Given the description of an element on the screen output the (x, y) to click on. 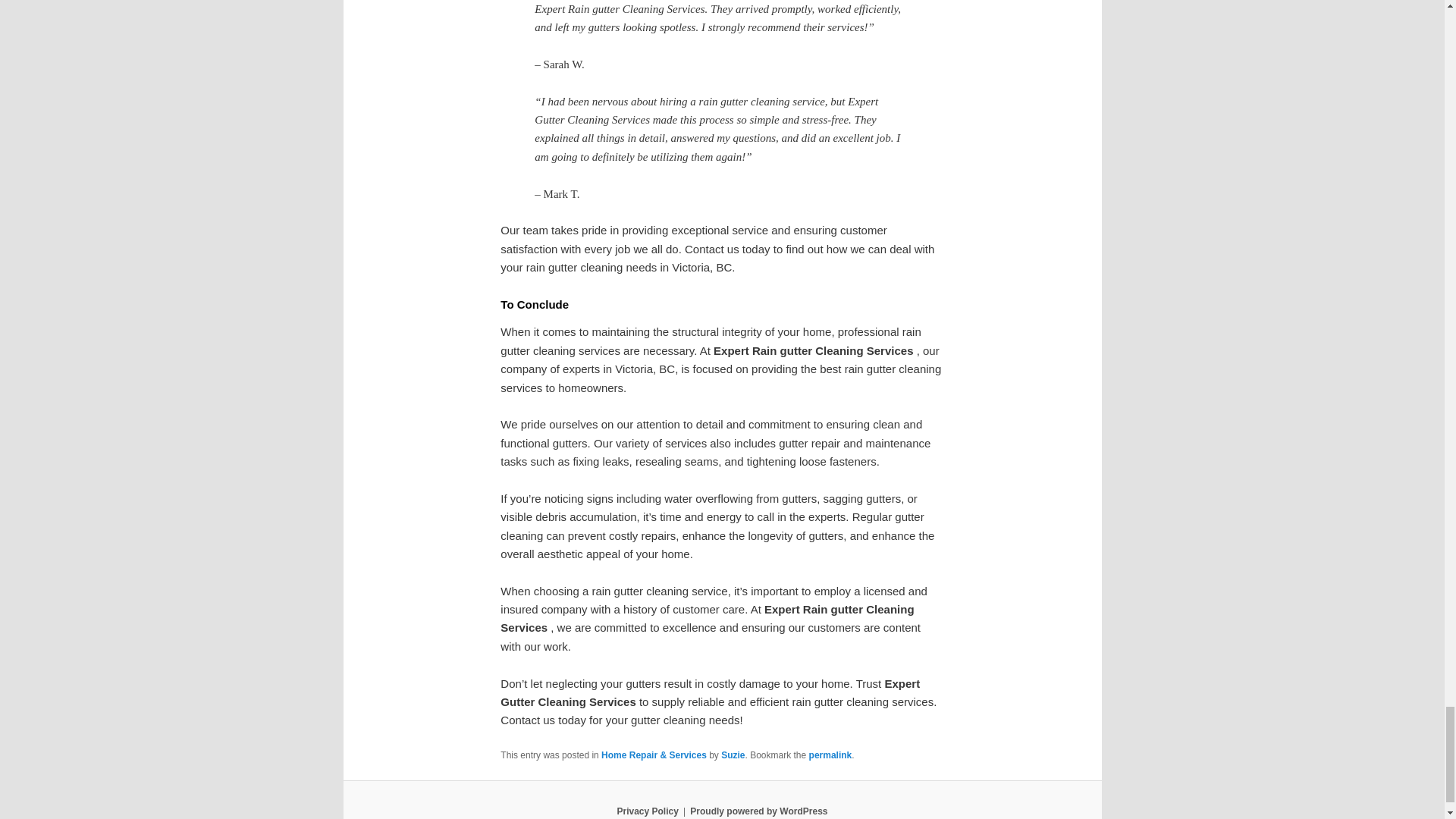
Suzie (732, 755)
Privacy Policy (646, 810)
Semantic Personal Publishing Platform (758, 810)
Proudly powered by WordPress (758, 810)
permalink (830, 755)
